Given the description of an element on the screen output the (x, y) to click on. 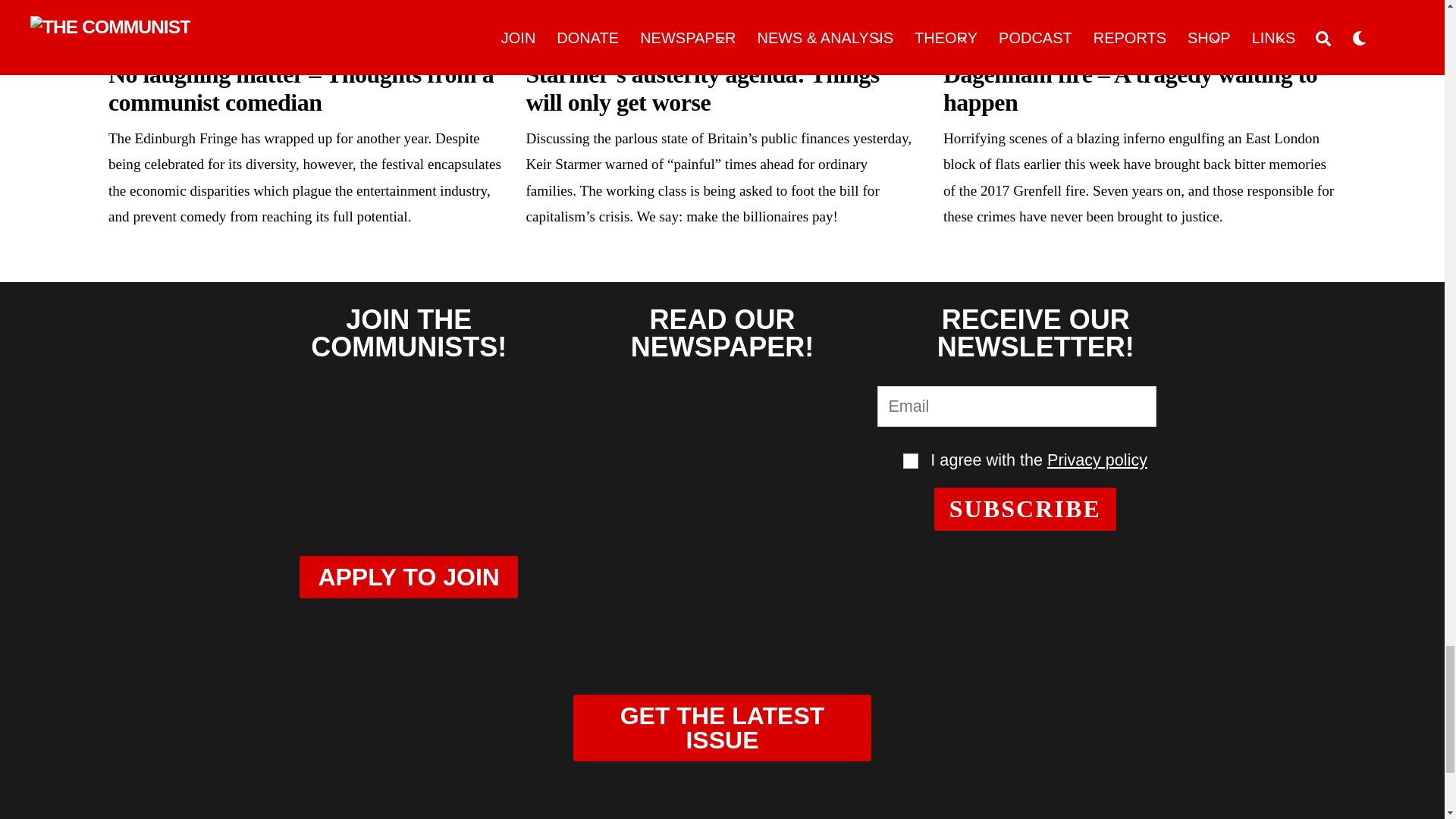
on (910, 460)
Terms and conditions (910, 460)
Privacy policy (1096, 459)
